Given the description of an element on the screen output the (x, y) to click on. 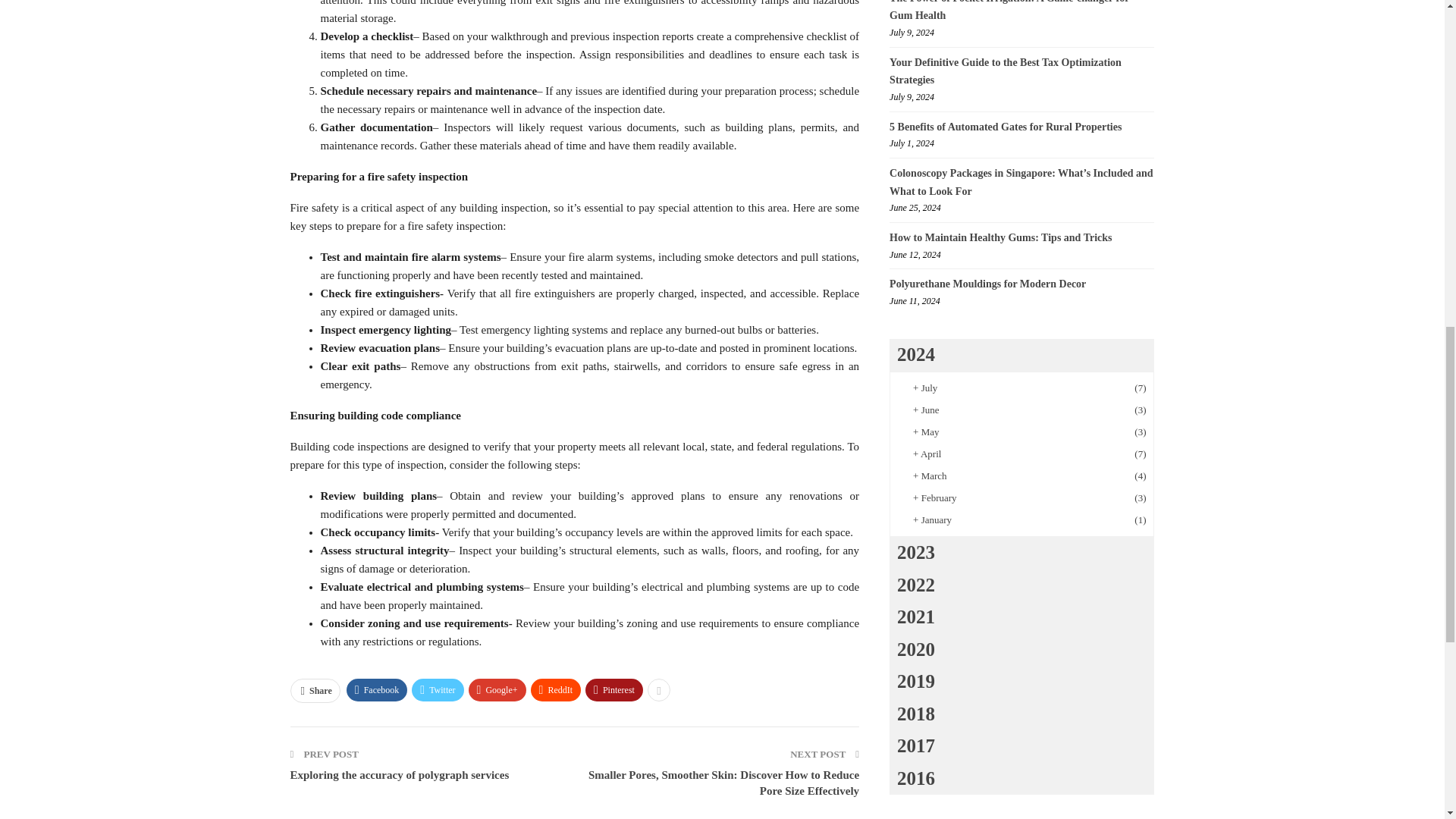
Exploring the accuracy of polygraph services (398, 775)
Facebook (376, 689)
Pinterest (614, 689)
ReddIt (555, 689)
Twitter (437, 689)
